Given the description of an element on the screen output the (x, y) to click on. 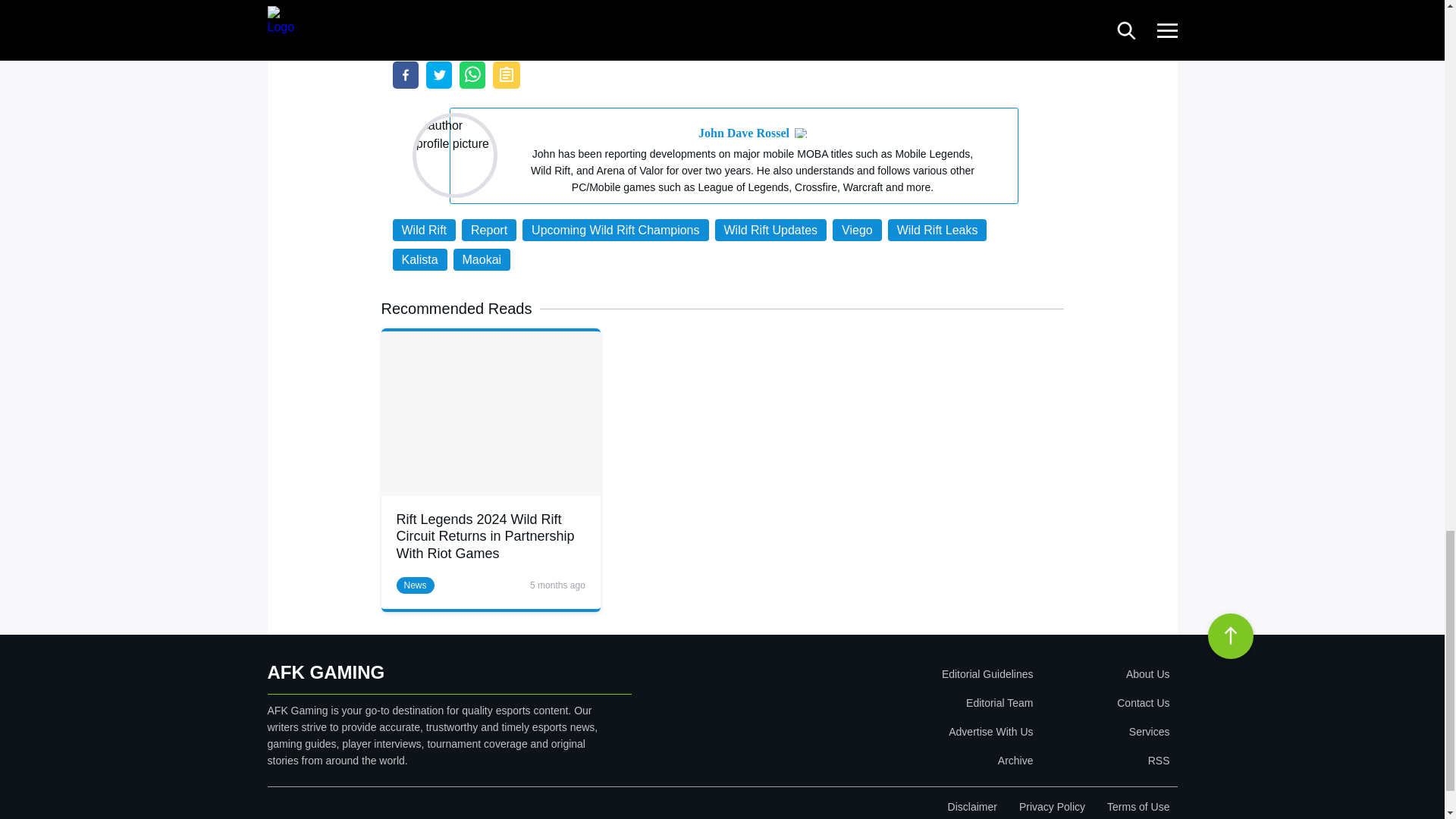
John Dave Rossel (743, 133)
Maokai (481, 259)
RSS (1105, 760)
Editorial Guidelines (899, 674)
Kalista (419, 259)
Advertise With Us (899, 731)
Editorial Team (899, 702)
Wild Rift (425, 229)
Archive (899, 760)
Viego (857, 229)
Terms of Use (1137, 806)
Services (1105, 731)
Report (488, 229)
About Us (1105, 674)
